Given the description of an element on the screen output the (x, y) to click on. 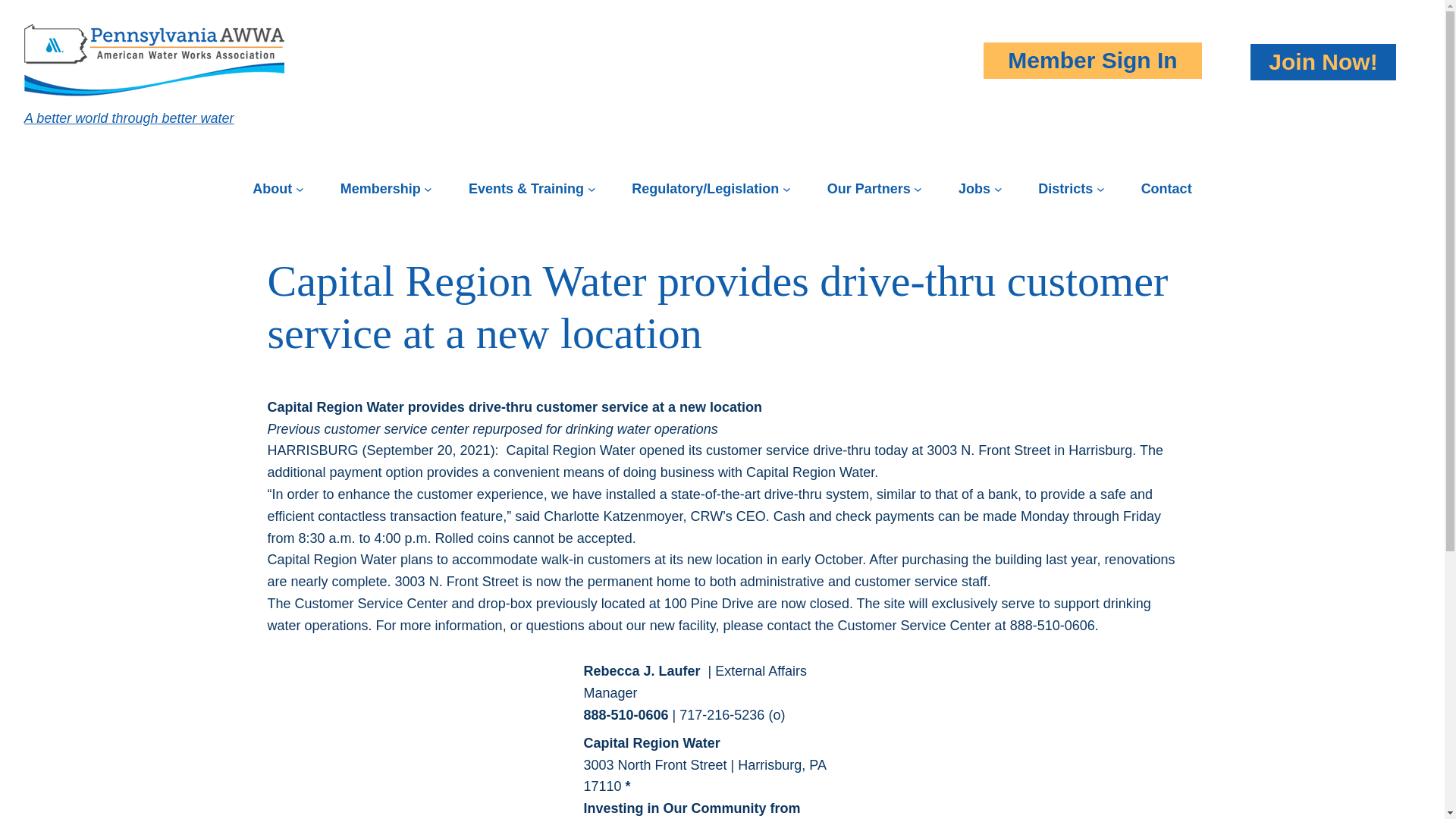
Membership (380, 188)
About (271, 188)
Join Now! (1322, 61)
A better world through better water (128, 118)
Member Sign In (1091, 59)
